Given the description of an element on the screen output the (x, y) to click on. 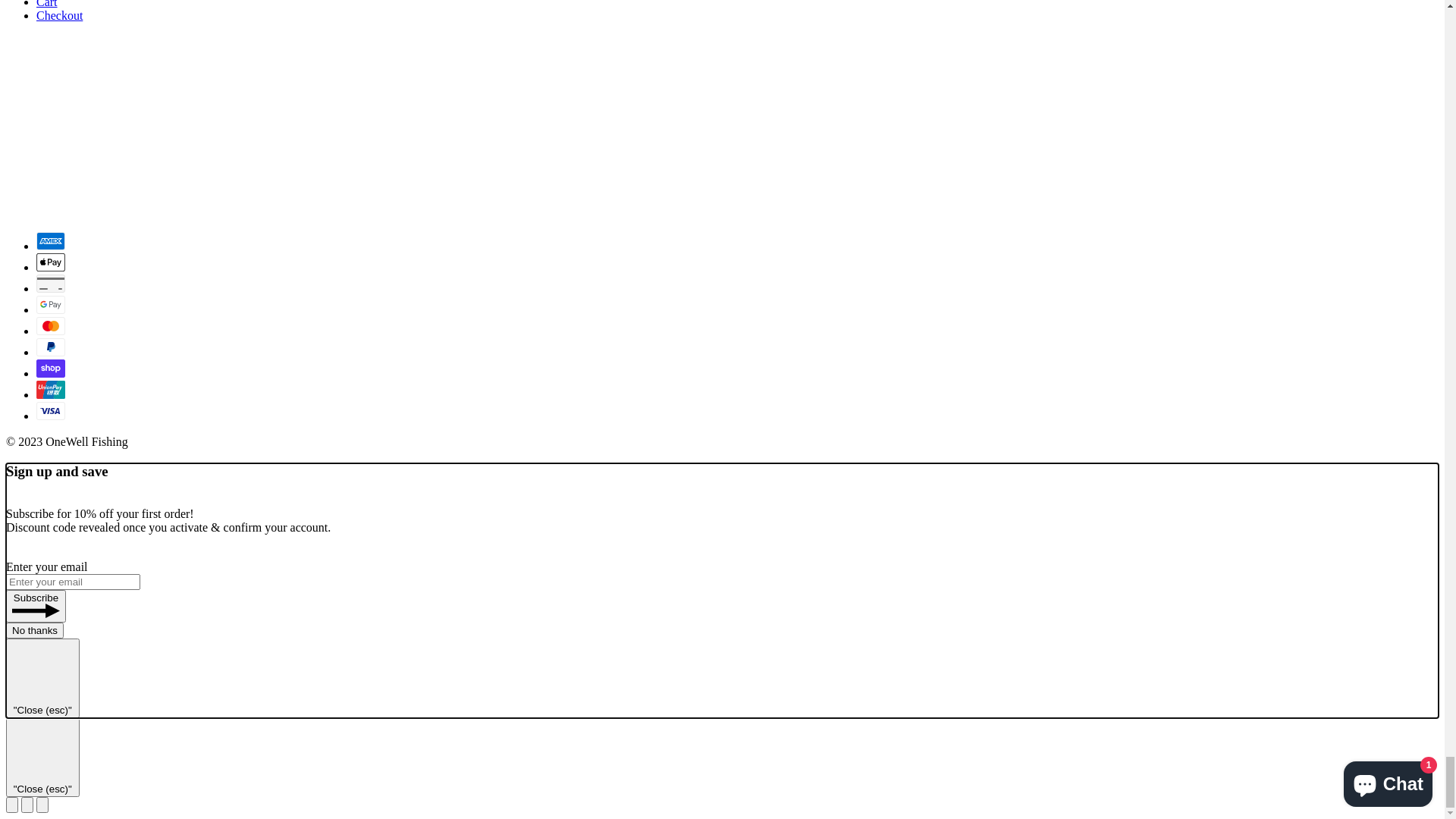
Close menu Element type: text (40, 56)
TROPHY WALL Element type: text (97, 246)
HOME Element type: text (61, 114)
ABOUT Element type: text (65, 230)
All Lures Element type: text (89, 160)
Merchandise Element type: text (97, 215)
Log in Element type: text (52, 260)
Lunch Lures Element type: text (97, 188)
Skip to content Element type: text (42, 12)
Bundle Packs Element type: text (99, 174)
SUMO Lures Element type: text (99, 201)
SHOP Element type: text (58, 130)
